Given the description of an element on the screen output the (x, y) to click on. 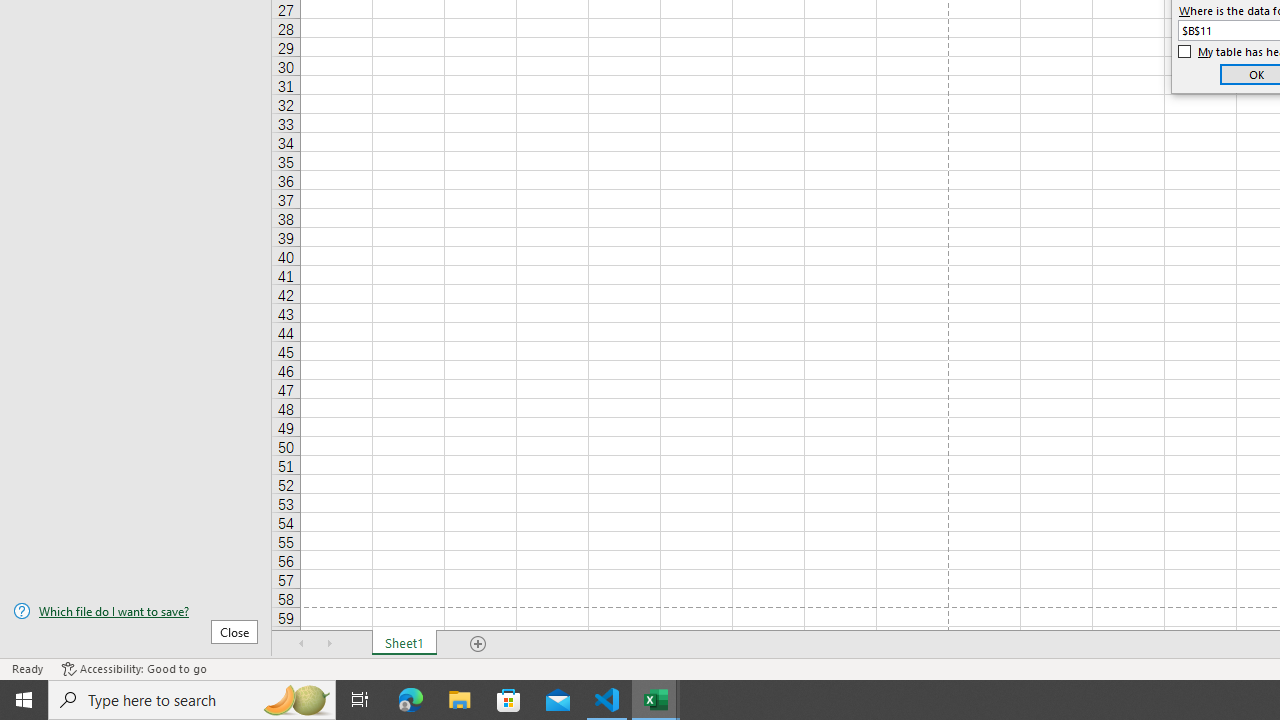
Which file do I want to save? (136, 611)
